Given the description of an element on the screen output the (x, y) to click on. 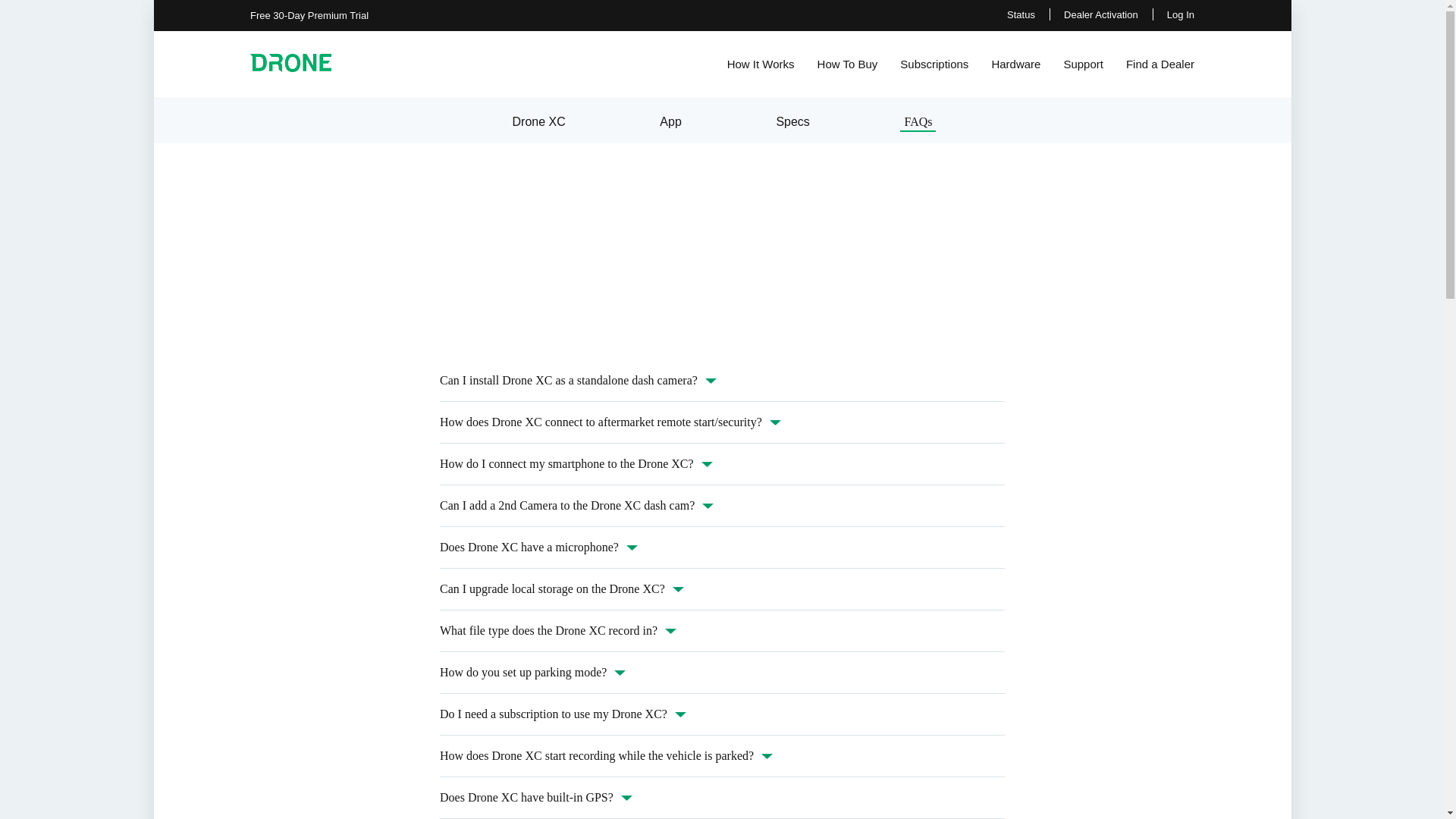
Drone XC (538, 120)
FAQs (917, 120)
Specs (791, 120)
App (670, 120)
Find a Dealer (1159, 65)
Free 30-Day Premium Trial (309, 15)
Status (1021, 14)
Subscriptions (933, 65)
Hardware (1016, 65)
Log In (1180, 14)
